Given the description of an element on the screen output the (x, y) to click on. 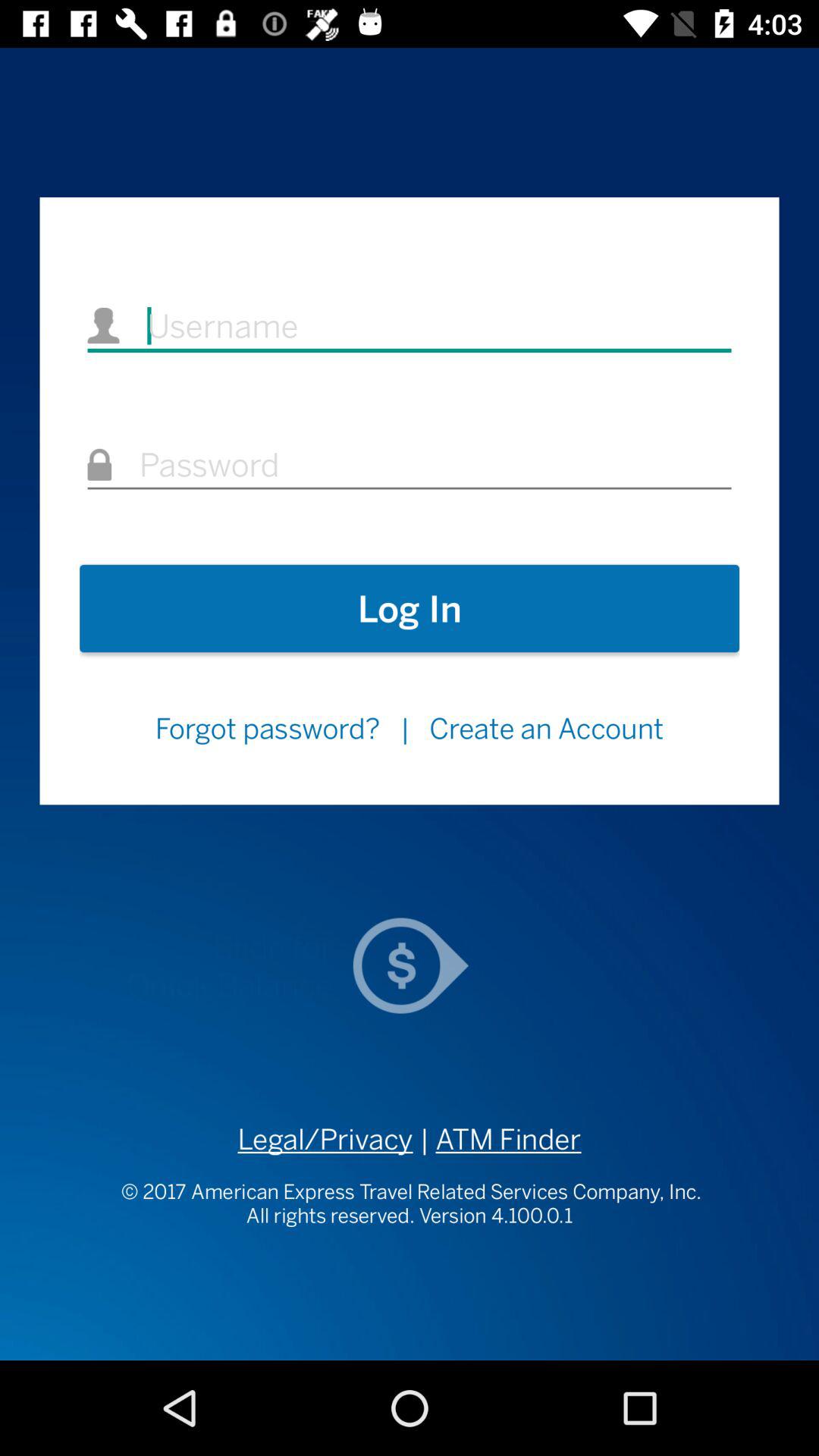
type in password (409, 465)
